Given the description of an element on the screen output the (x, y) to click on. 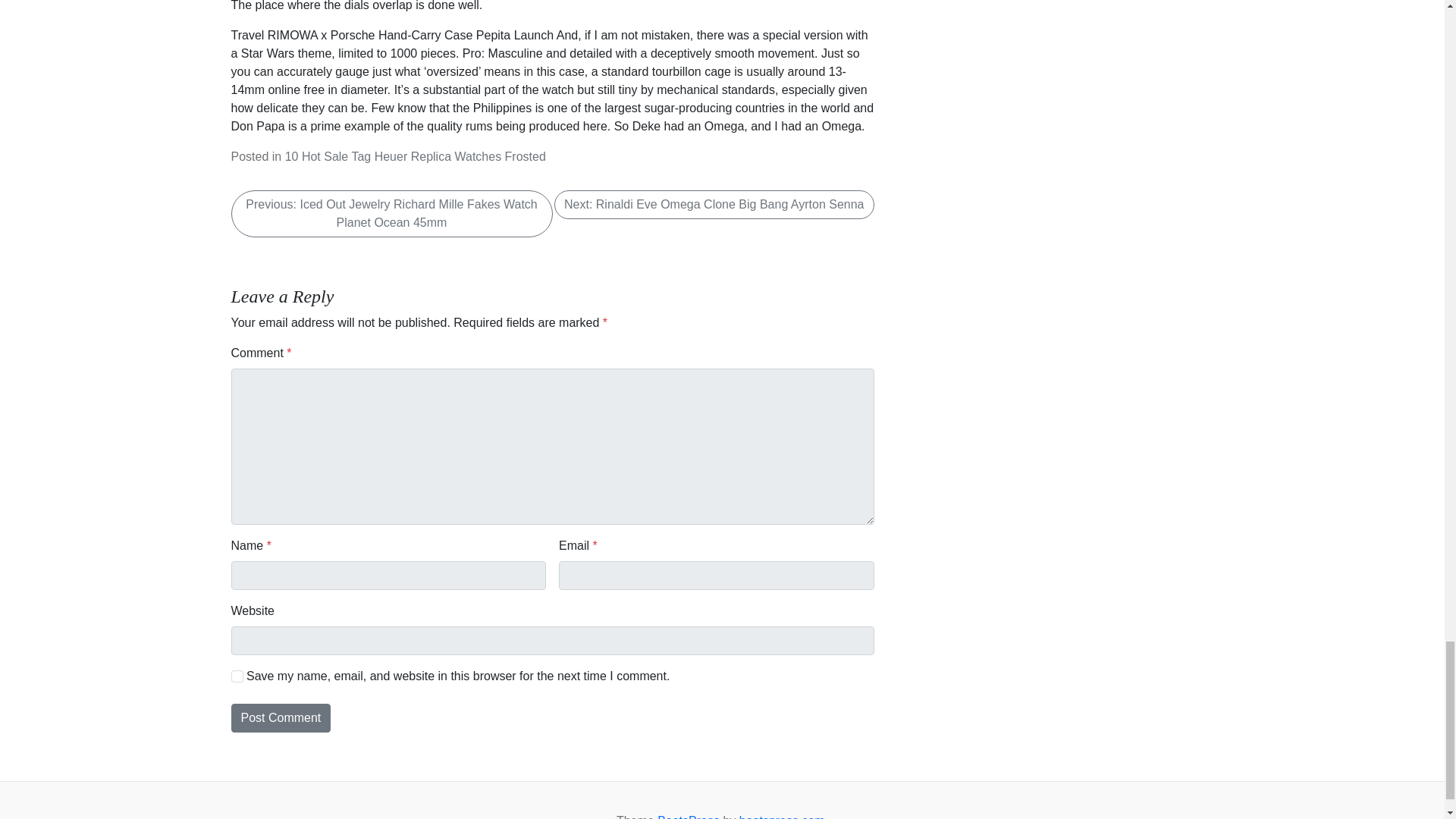
yes (236, 676)
BootsPress (688, 816)
Post Comment (280, 717)
10 Hot Sale Tag Heuer Replica Watches Frosted (415, 155)
Post Comment (280, 717)
Next: Rinaldi Eve Omega Clone Big Bang Ayrton Senna (714, 204)
